Given the description of an element on the screen output the (x, y) to click on. 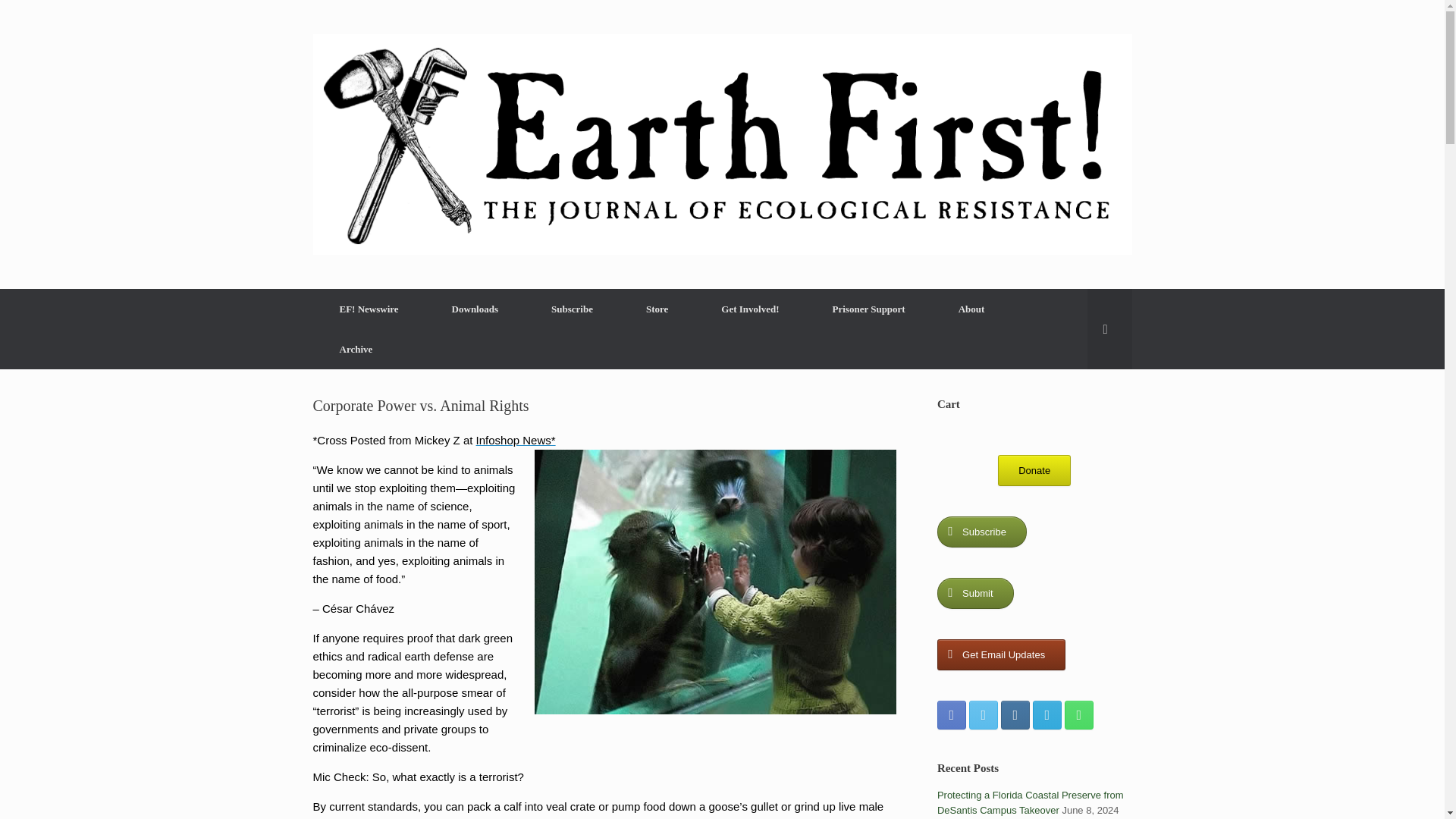
Earth First! Journal Facebook (951, 715)
Archive (355, 349)
Subscribe (981, 531)
EF! Newswire (369, 309)
About (971, 309)
Earth First! Journal Phone (1078, 715)
Submit (975, 593)
Prisoner Support (868, 309)
baboon-and-kid (715, 581)
